Given the description of an element on the screen output the (x, y) to click on. 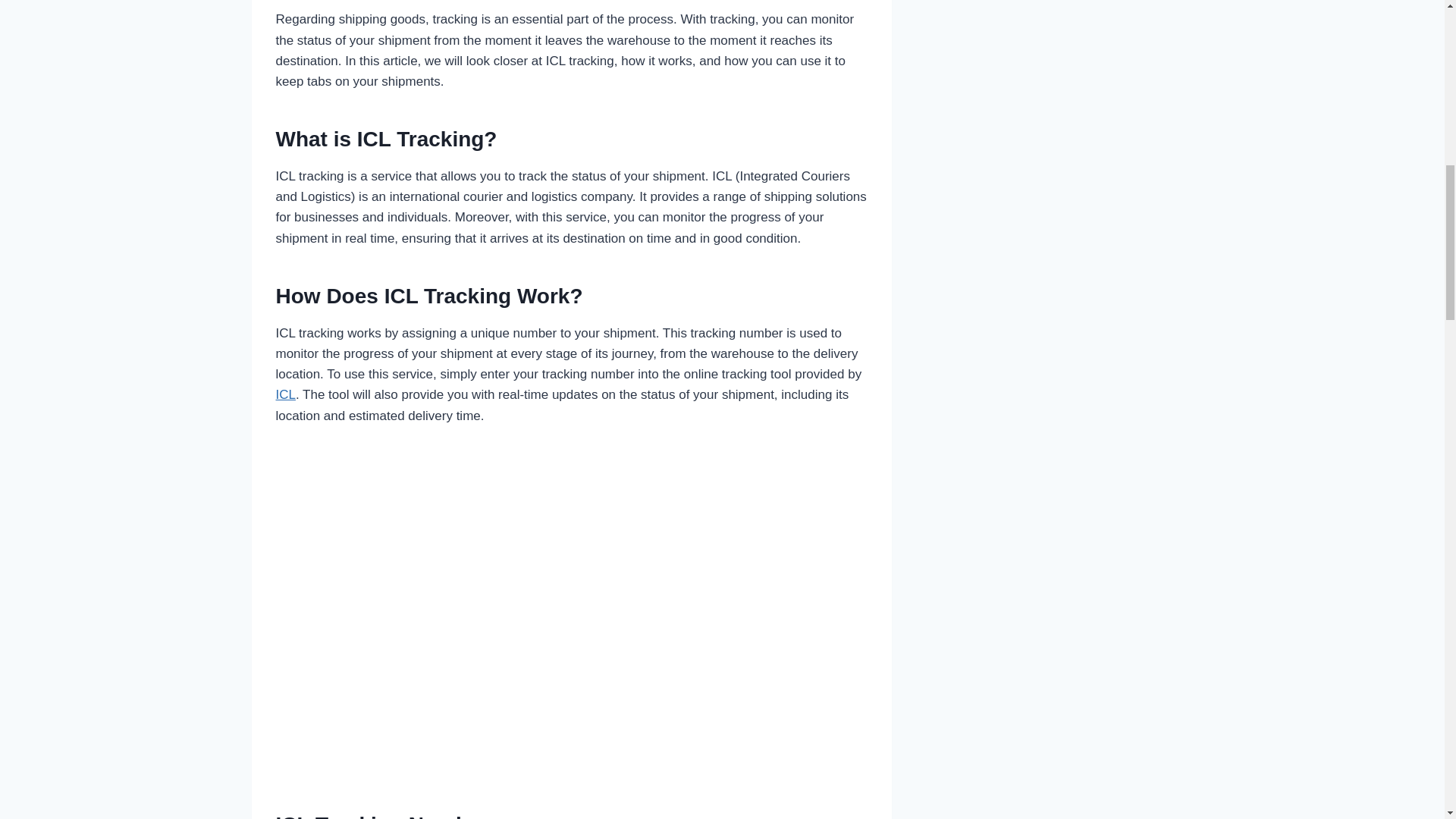
ICL (285, 394)
